Given the description of an element on the screen output the (x, y) to click on. 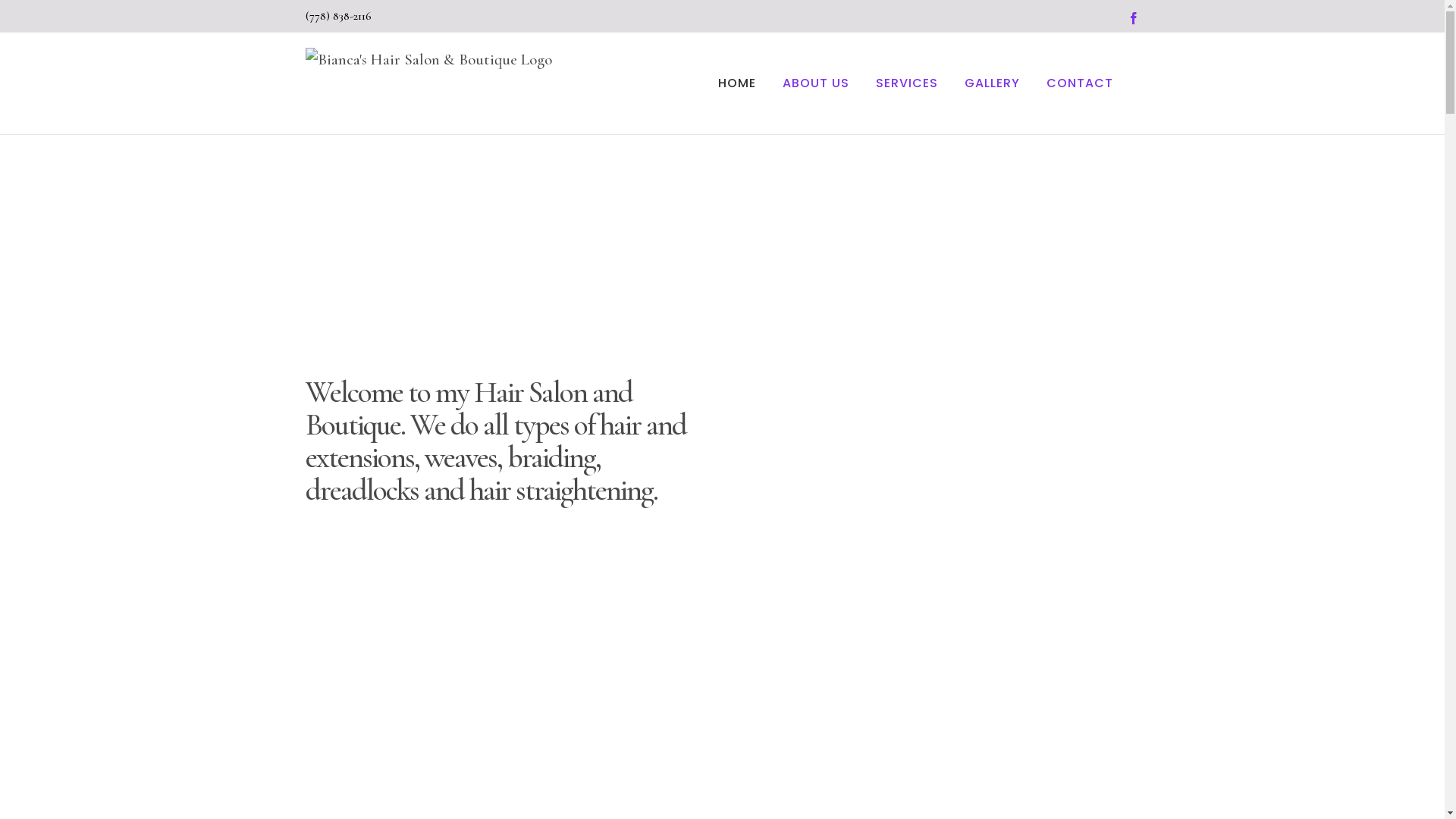
facebook Element type: text (1132, 18)
ABOUT US Element type: text (815, 83)
SERVICES Element type: text (906, 83)
CONTACT Element type: text (1079, 83)
HOME Element type: text (736, 83)
GALLERY Element type: text (991, 83)
